Given the description of an element on the screen output the (x, y) to click on. 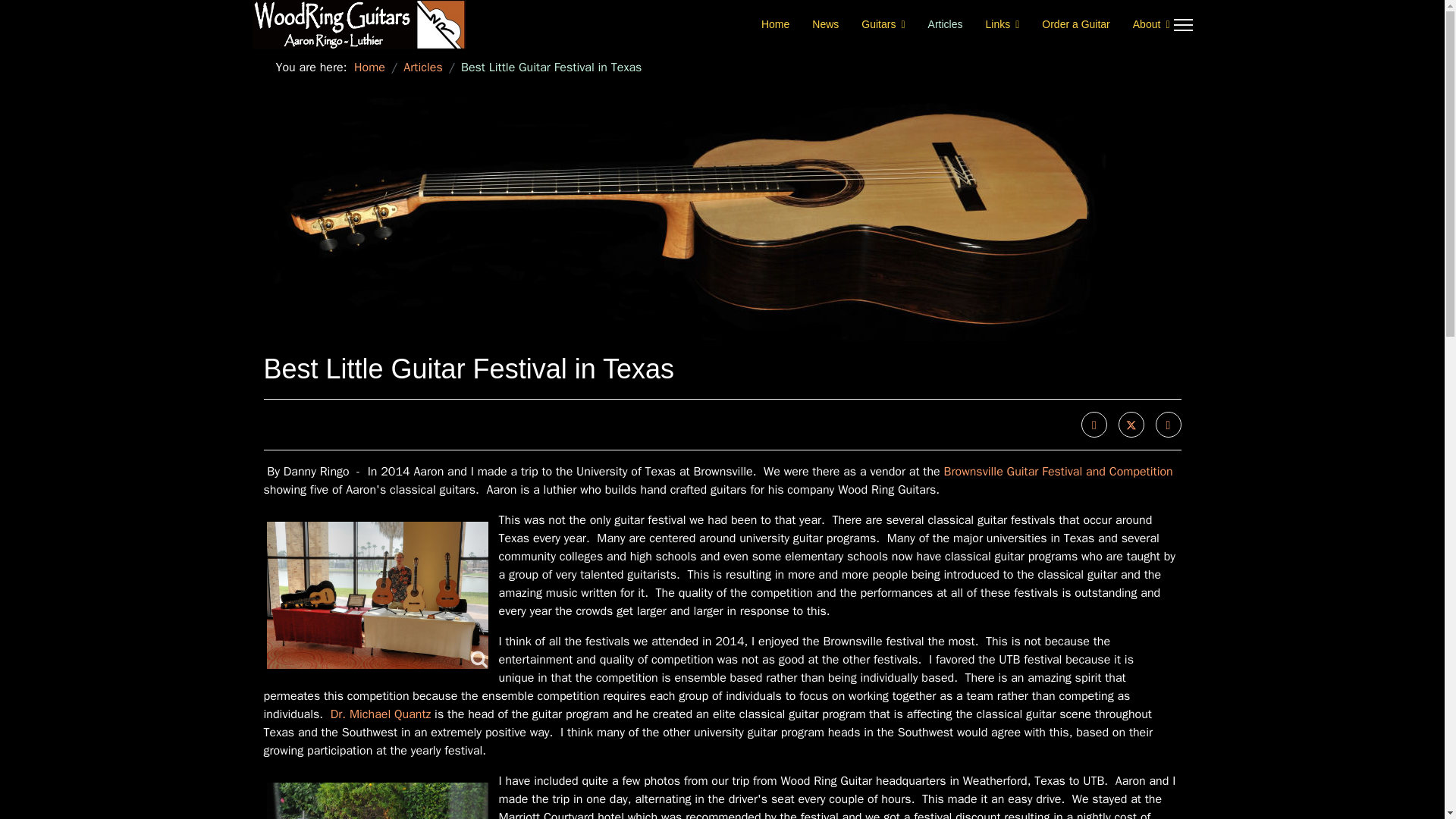
Brownsville Guitar Festival and Competition (1058, 471)
Guitars (882, 24)
Facebook (1093, 424)
Order a Guitar (1075, 24)
Links (1002, 24)
Articles (422, 67)
Dr. Michael Quantz (380, 713)
LinkedIn (1168, 424)
Articles (945, 24)
Dr. Michael Quantz (380, 713)
Home (369, 67)
About (1145, 24)
Home (774, 24)
Guitar players practicing in the hot tub at the Hotel. (377, 799)
